Given the description of an element on the screen output the (x, y) to click on. 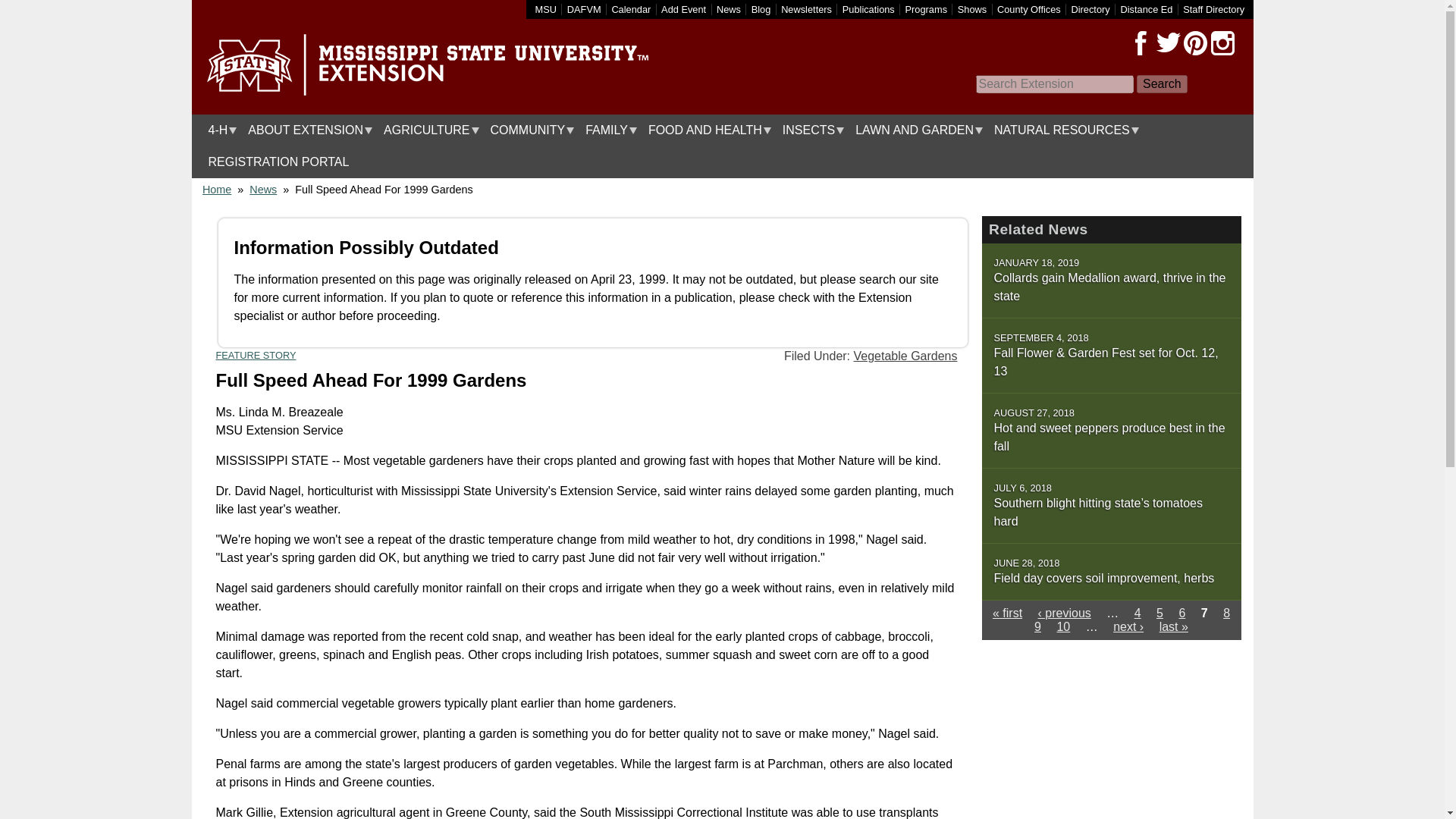
Staff Directory (1213, 9)
Directory (1089, 9)
List of Extension Programs (926, 9)
Instagram (1221, 43)
Shows (972, 9)
Link to Mississippi State University (545, 9)
MSU (545, 9)
Directory of employees of the MSU Extension Service (1213, 9)
Calendar (630, 9)
Find a county extension office (1029, 9)
